Given the description of an element on the screen output the (x, y) to click on. 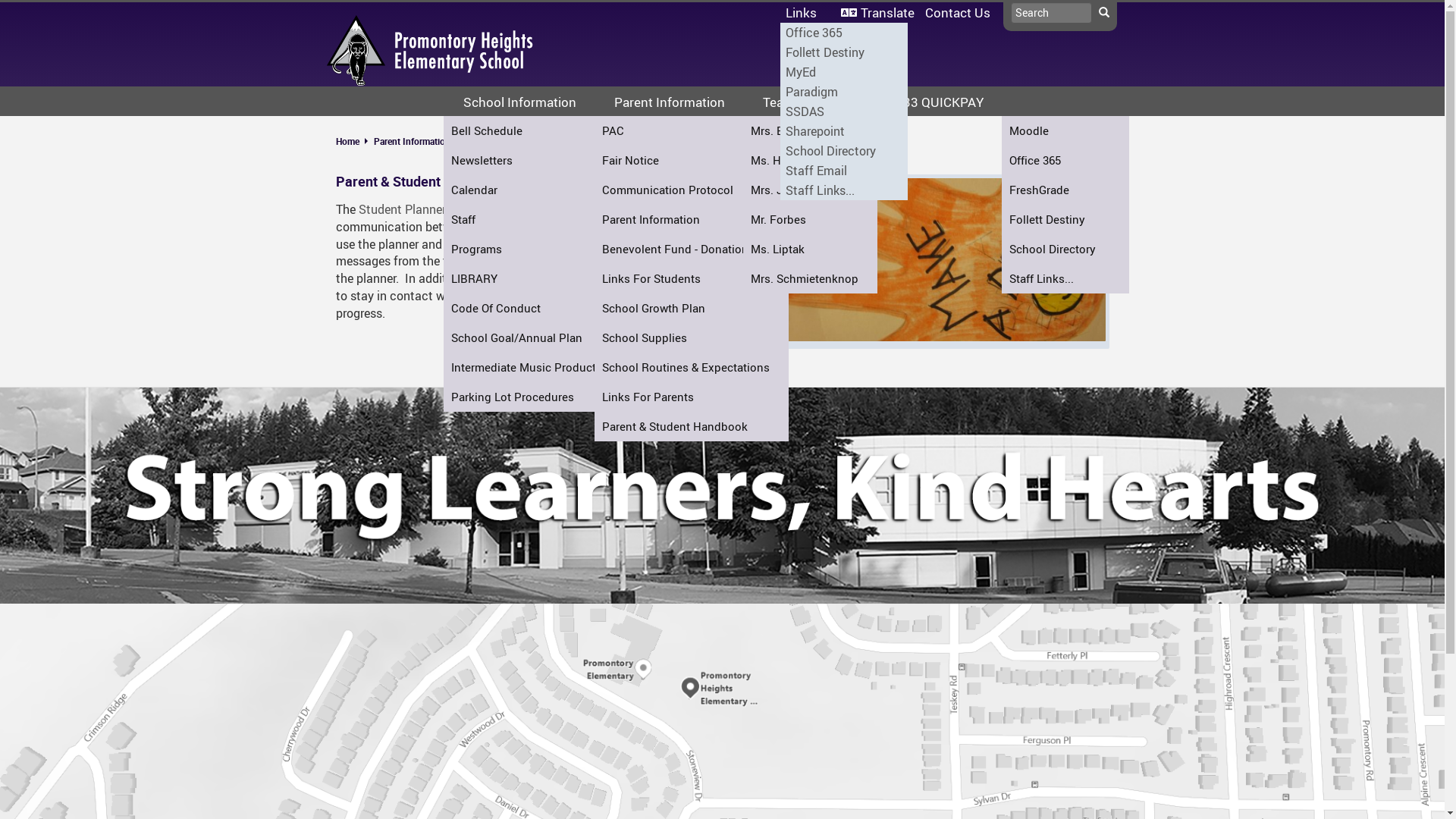
Ms. Liptak Element type: text (810, 248)
Parent & Student Handbook Element type: text (521, 141)
Mrs. Johnston Element type: text (810, 189)
Fair Notice Element type: text (691, 160)
Links For Students Element type: text (691, 278)
SSDAS Element type: text (842, 111)
Student Planner  Element type: text (402, 208)
School Goal/Annual Plan Element type: text (536, 337)
Sharepoint Element type: text (842, 131)
Calendar Element type: text (536, 189)
Programs Element type: text (536, 248)
Counselors Element type: text (676, 248)
Communication Protocol Element type: text (691, 189)
Links For Parents Element type: text (691, 396)
Office 365 Element type: text (842, 32)
Staff Email Element type: text (842, 170)
Parent & Student Handbook Element type: text (691, 426)
Benevolent Fund - Donations Element type: text (691, 248)
Skip to main content Element type: text (0, 0)
Paradigm Element type: text (842, 91)
PAC Element type: text (691, 130)
Moodle Element type: text (1064, 130)
Mrs. Schmietenknop Element type: text (810, 278)
Links Element type: text (806, 12)
Search Element type: text (1103, 12)
Teachers Element type: text (676, 308)
Support Staff Element type: text (676, 278)
School Directory Element type: text (842, 150)
Follett Destiny Element type: text (842, 52)
MyEd Element type: text (842, 71)
SD33 QUICKPAY Element type: text (933, 101)
Intermediate Music Production Element type: text (536, 367)
Office 365 Element type: text (1064, 160)
Follett Destiny Element type: text (1064, 219)
Parent Information Element type: text (411, 141)
Mr. Forbes Element type: text (810, 219)
School Directory Element type: text (1064, 248)
School Growth Plan Element type: text (691, 308)
Code Of Conduct Element type: text (536, 308)
Staff Element type: text (536, 219)
Parent Information Element type: text (691, 219)
PHECSA Element type: text (696, 308)
Administration Element type: text (676, 219)
Newsletters Element type: text (536, 160)
Translate Element type: text (877, 12)
School Supplies Element type: text (691, 337)
Ms. Hardy Element type: text (810, 160)
Helping Hands Element type: text (696, 278)
Parking Lot Procedures Element type: text (536, 396)
Parent Information Element type: text (668, 101)
Aboriginal Information Element type: text (696, 248)
Home Element type: text (352, 140)
School Teams Element type: text (696, 337)
Contact Us Element type: text (956, 12)
LIBRARY Element type: text (536, 278)
Staff Links... Element type: text (842, 190)
School Routines & Expectations Element type: text (691, 367)
Mrs. Buck Element type: text (810, 130)
Student Leaders Element type: text (696, 367)
Teacher Pages Element type: text (804, 101)
FreshGrade Element type: text (1064, 189)
Bell Schedule Element type: text (536, 130)
Staff Links... Element type: text (1064, 278)
School Information Element type: text (517, 101)
